Given the description of an element on the screen output the (x, y) to click on. 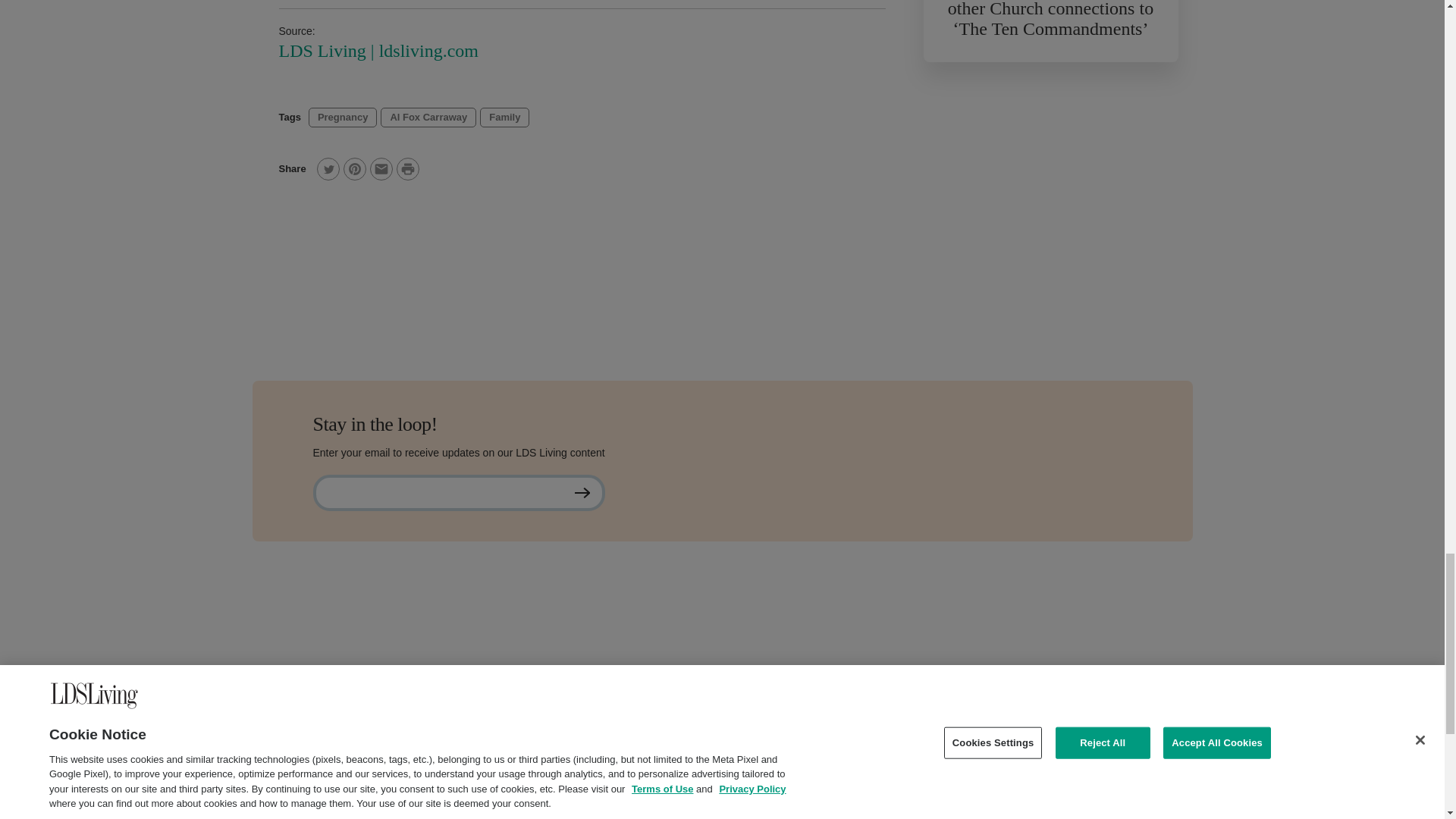
3rd party ad content (721, 651)
3rd party ad content (1050, 198)
